Given the description of an element on the screen output the (x, y) to click on. 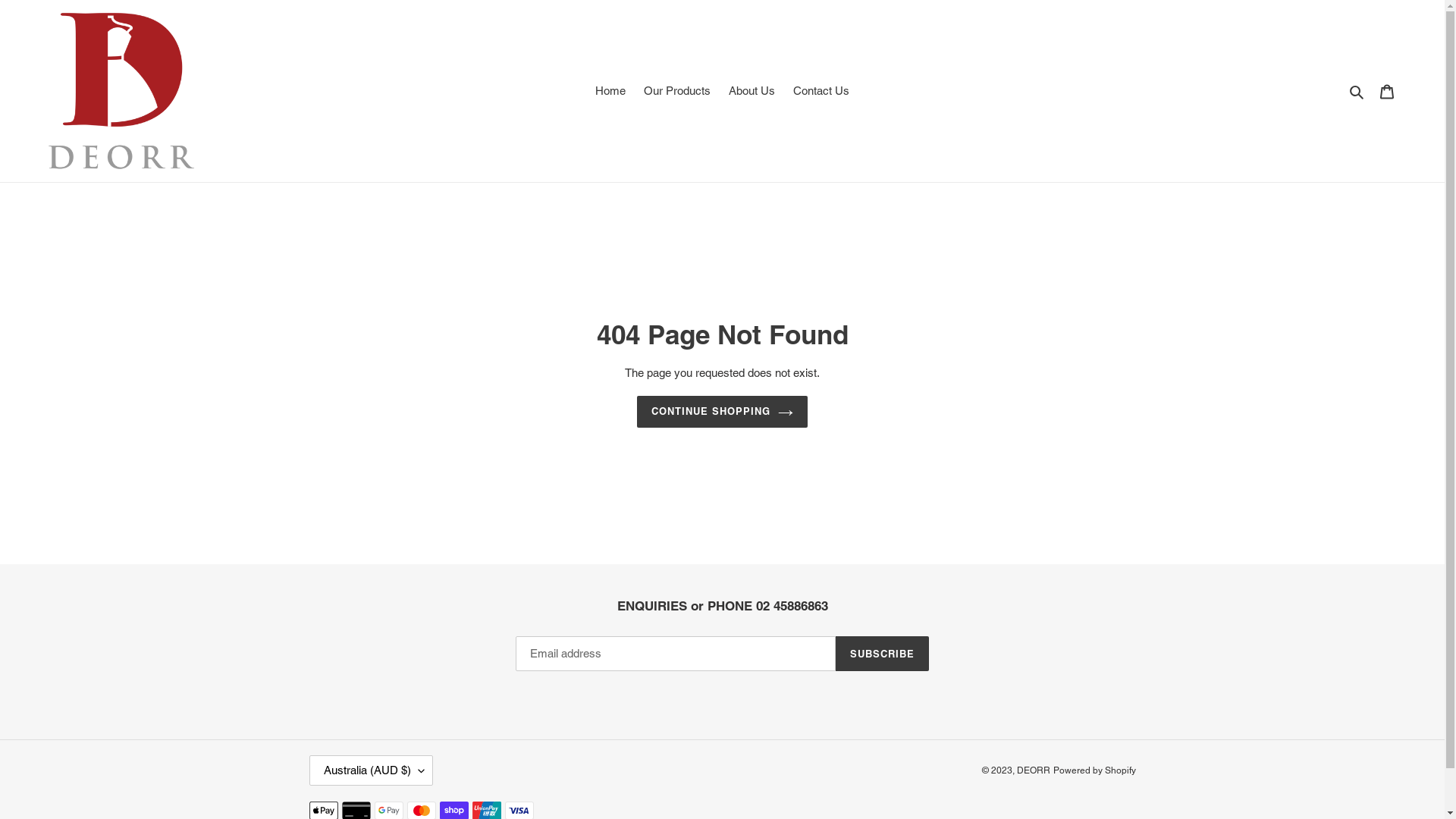
Powered by Shopify Element type: text (1093, 770)
Contact Us Element type: text (820, 91)
Our Products Element type: text (677, 91)
CONTINUE SHOPPING Element type: text (722, 411)
Australia (AUD $) Element type: text (371, 770)
Search Element type: text (1357, 90)
About Us Element type: text (751, 91)
DEORR Element type: text (1032, 770)
Cart Element type: text (1386, 91)
SUBSCRIBE Element type: text (881, 653)
Home Element type: text (610, 91)
